Given the description of an element on the screen output the (x, y) to click on. 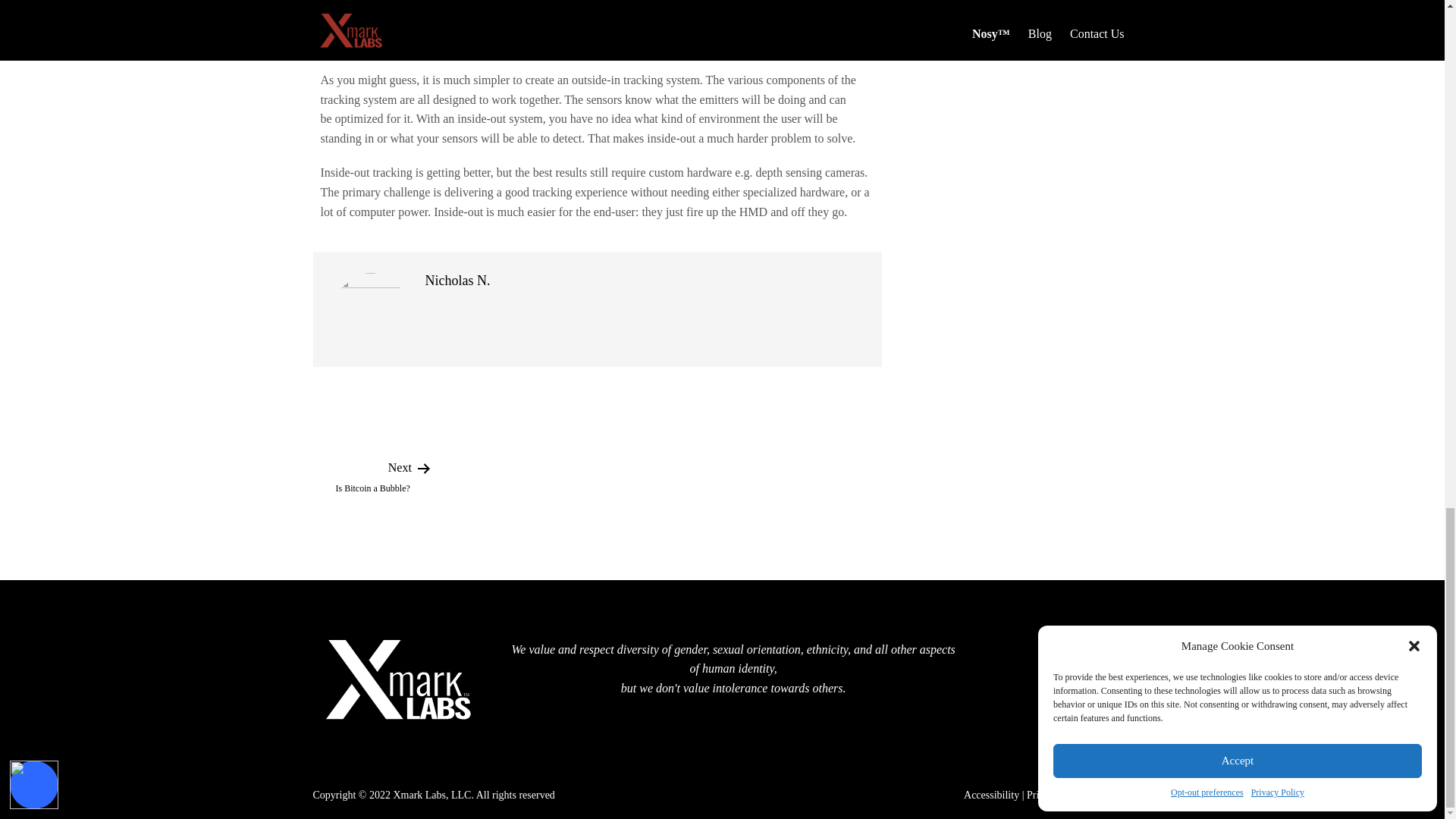
Contact (372, 476)
Blog (1102, 710)
Accessibility (1110, 678)
Privacy Policy (991, 794)
